Given the description of an element on the screen output the (x, y) to click on. 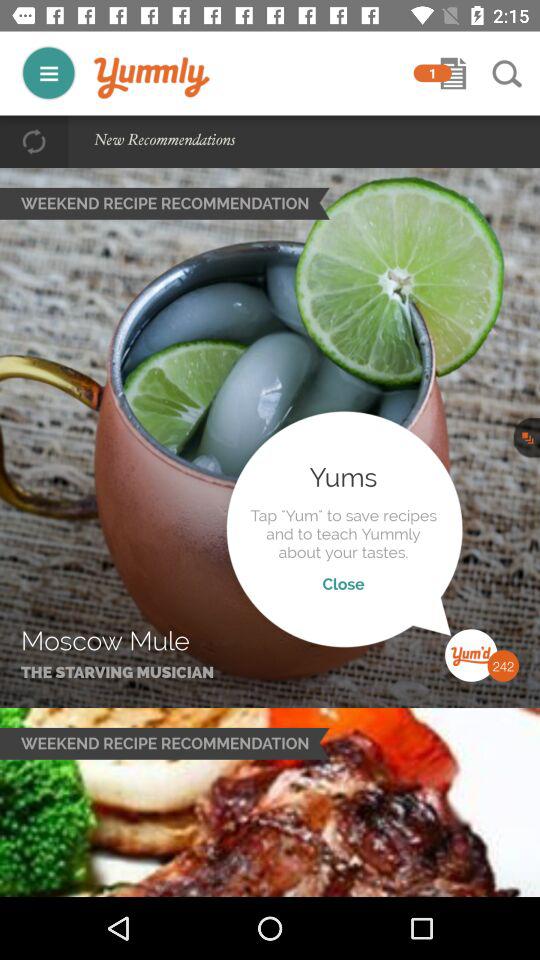
go to note or article (453, 73)
